Given the description of an element on the screen output the (x, y) to click on. 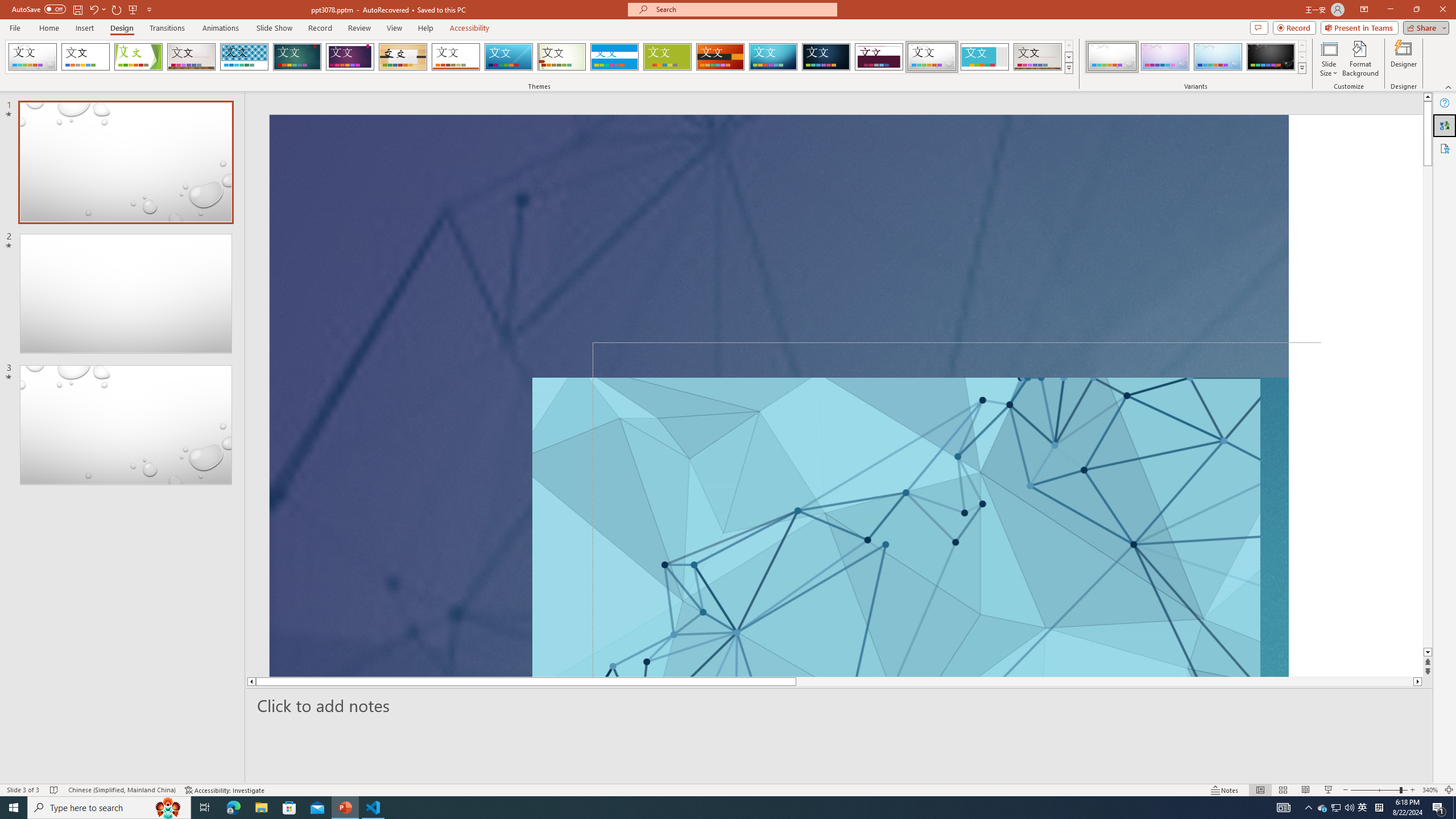
Retrospect (455, 56)
Droplet Variant 2 (1164, 56)
Page down (1427, 406)
Organic (403, 56)
Themes (1068, 67)
Damask (826, 56)
